Given the description of an element on the screen output the (x, y) to click on. 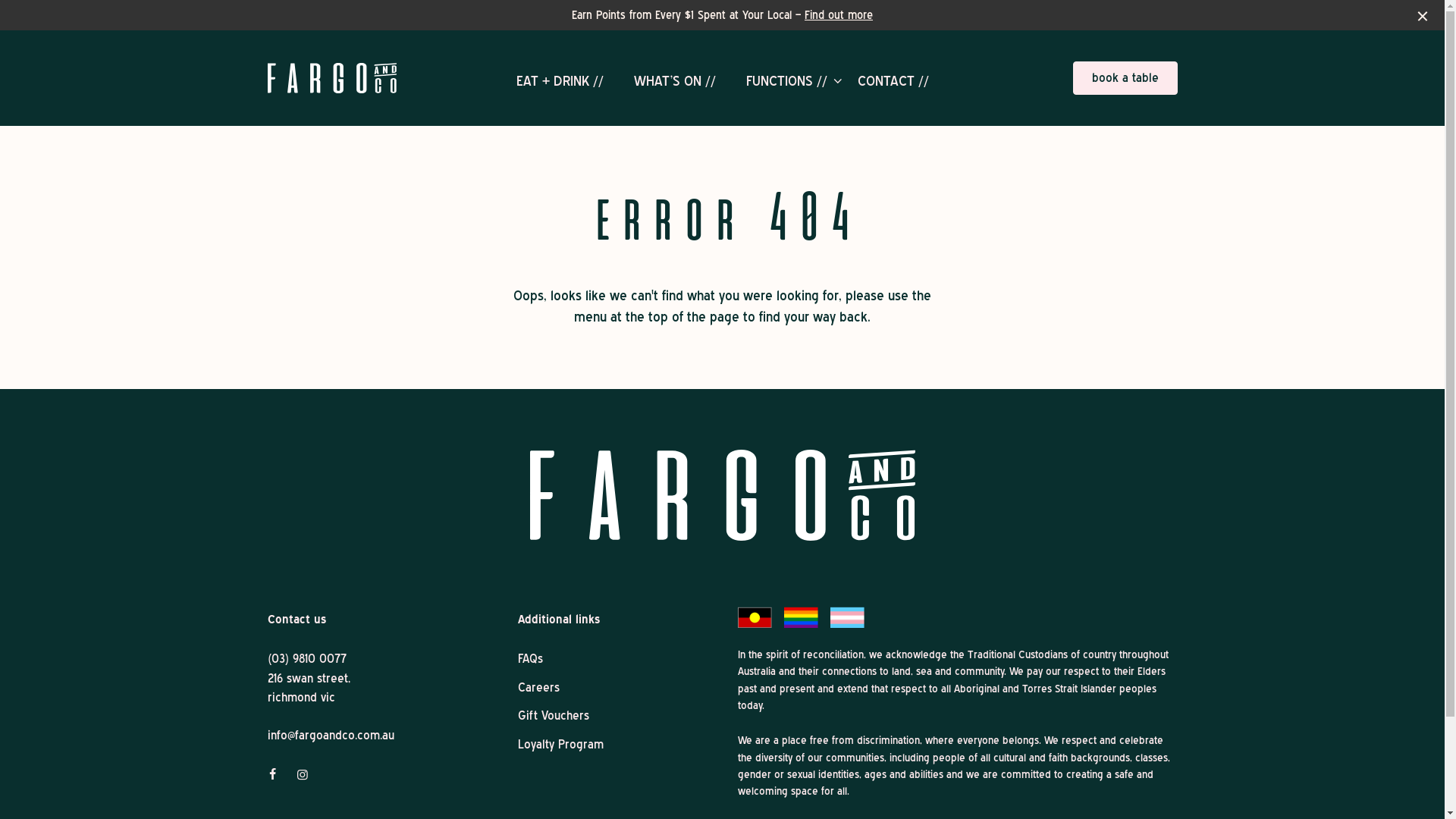
FAQs Element type: text (529, 658)
EAT + DRINK // Element type: text (558, 80)
book a table Element type: text (1124, 77)
CONTACT // Element type: text (892, 80)
Careers Element type: text (537, 687)
(03) 9810 0077 Element type: text (305, 658)
Loyalty Program Element type: text (559, 744)
info@fargoandco.com.au Element type: text (329, 735)
Gift Vouchers Element type: text (552, 715)
FUNCTIONS // Element type: text (786, 80)
216 swan street,
richmond vic Element type: text (307, 687)
Find out more Element type: text (838, 14)
